Given the description of an element on the screen output the (x, y) to click on. 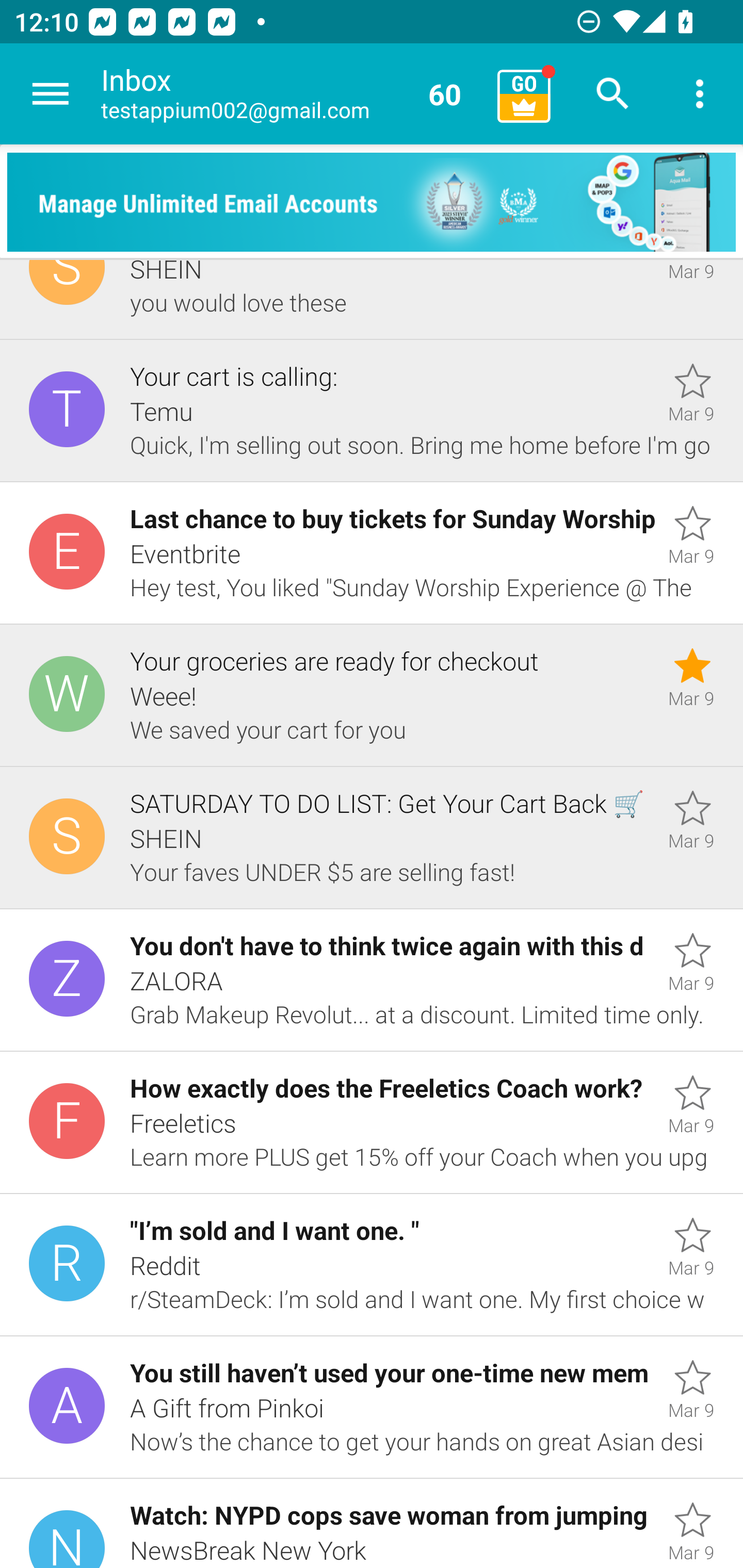
Navigate up (50, 93)
Inbox testappium002@gmail.com 60 (291, 93)
Search (612, 93)
More options (699, 93)
